Given the description of an element on the screen output the (x, y) to click on. 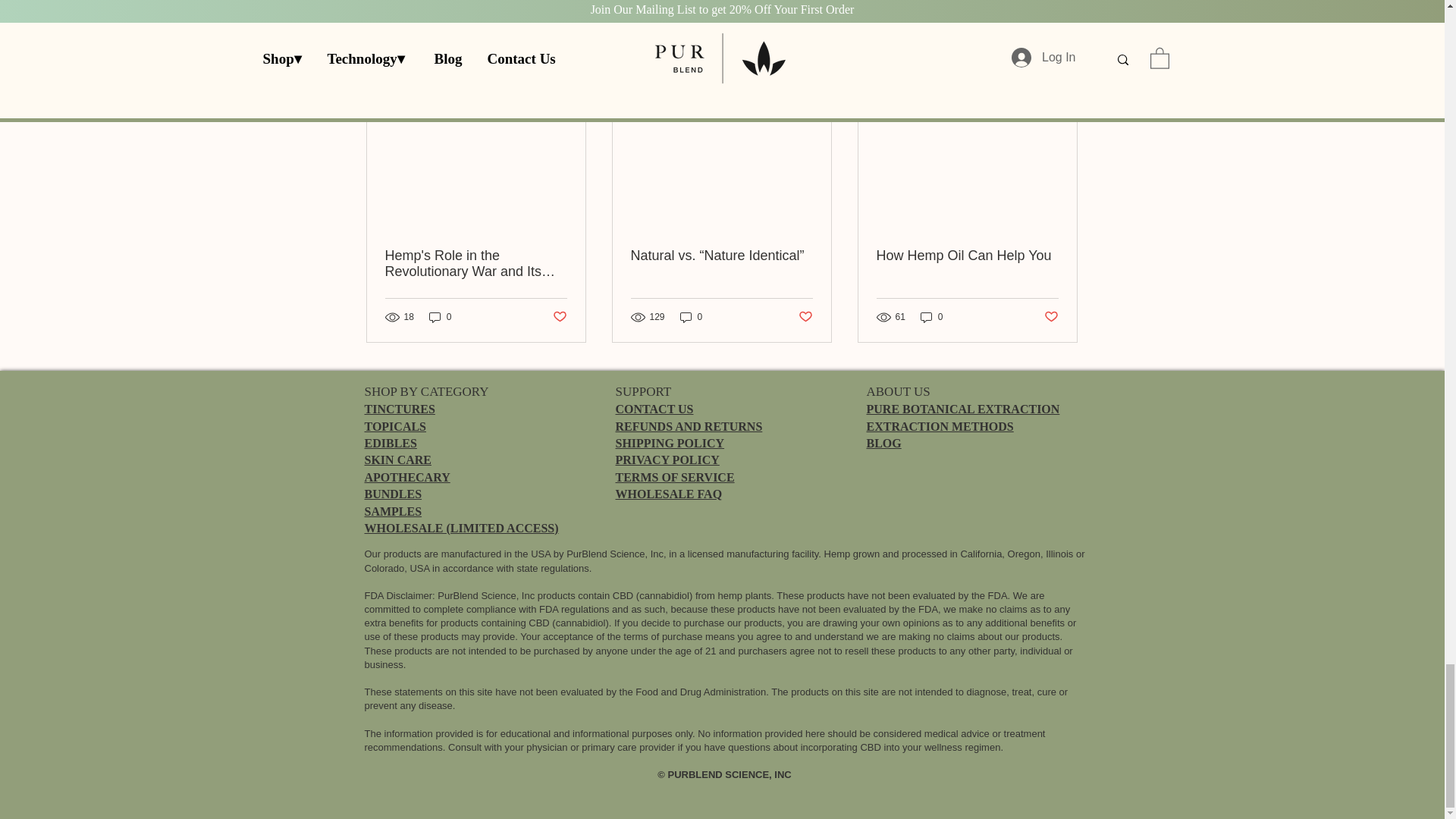
0 (691, 317)
Post not marked as liked (995, 2)
Hemp's Role in the Revolutionary War and Its Economic Impact (476, 264)
Post not marked as liked (1050, 317)
Post not marked as liked (804, 317)
How Hemp Oil Can Help You (967, 255)
TOPICALS (395, 426)
TINCTURES (398, 408)
0 (440, 317)
Post not marked as liked (558, 317)
